Given the description of an element on the screen output the (x, y) to click on. 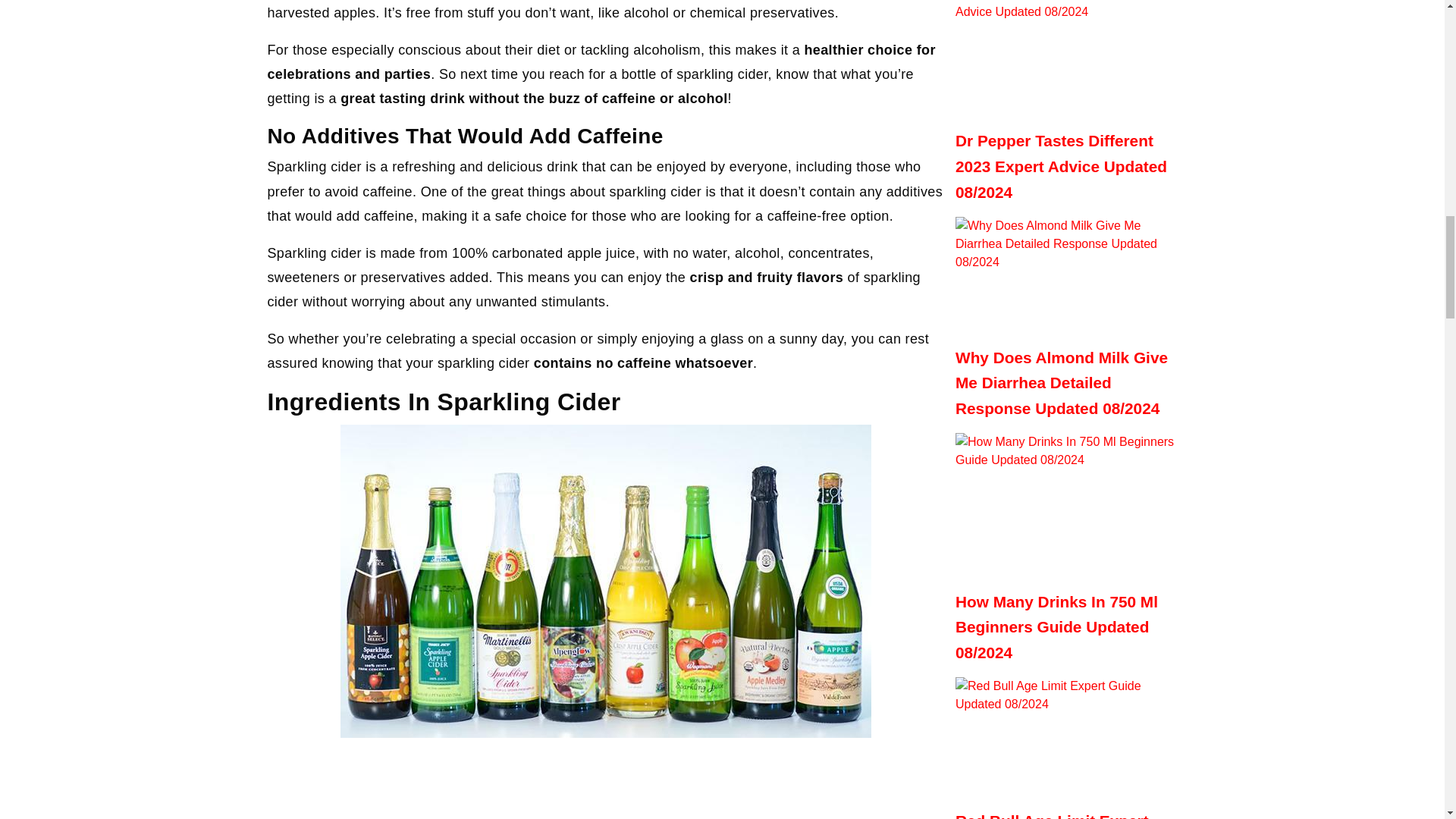
Advertisement (604, 784)
